Given the description of an element on the screen output the (x, y) to click on. 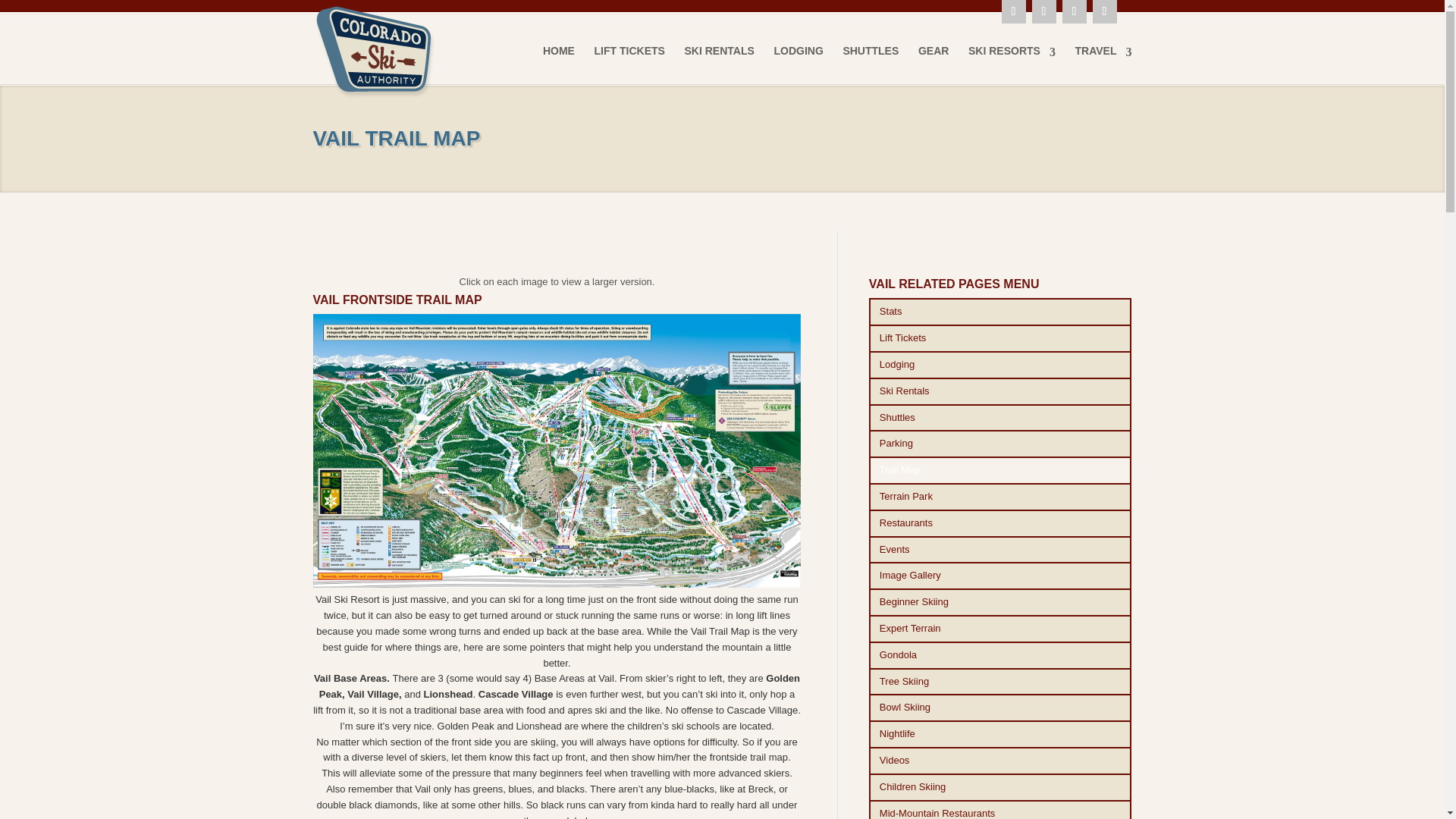
Trail Map (1000, 470)
SHUTTLES (870, 63)
Events (1000, 550)
Terrain Park (1000, 497)
Follow on Twitter (1073, 11)
Shuttles (1000, 418)
Follow on Facebook (1042, 11)
LIFT TICKETS (629, 63)
LODGING (797, 63)
Lift Tickets (1000, 338)
SKI RENTALS (719, 63)
Lodging (1000, 365)
Image Gallery (1000, 575)
TRAVEL (1103, 63)
Stats (1000, 311)
